Given the description of an element on the screen output the (x, y) to click on. 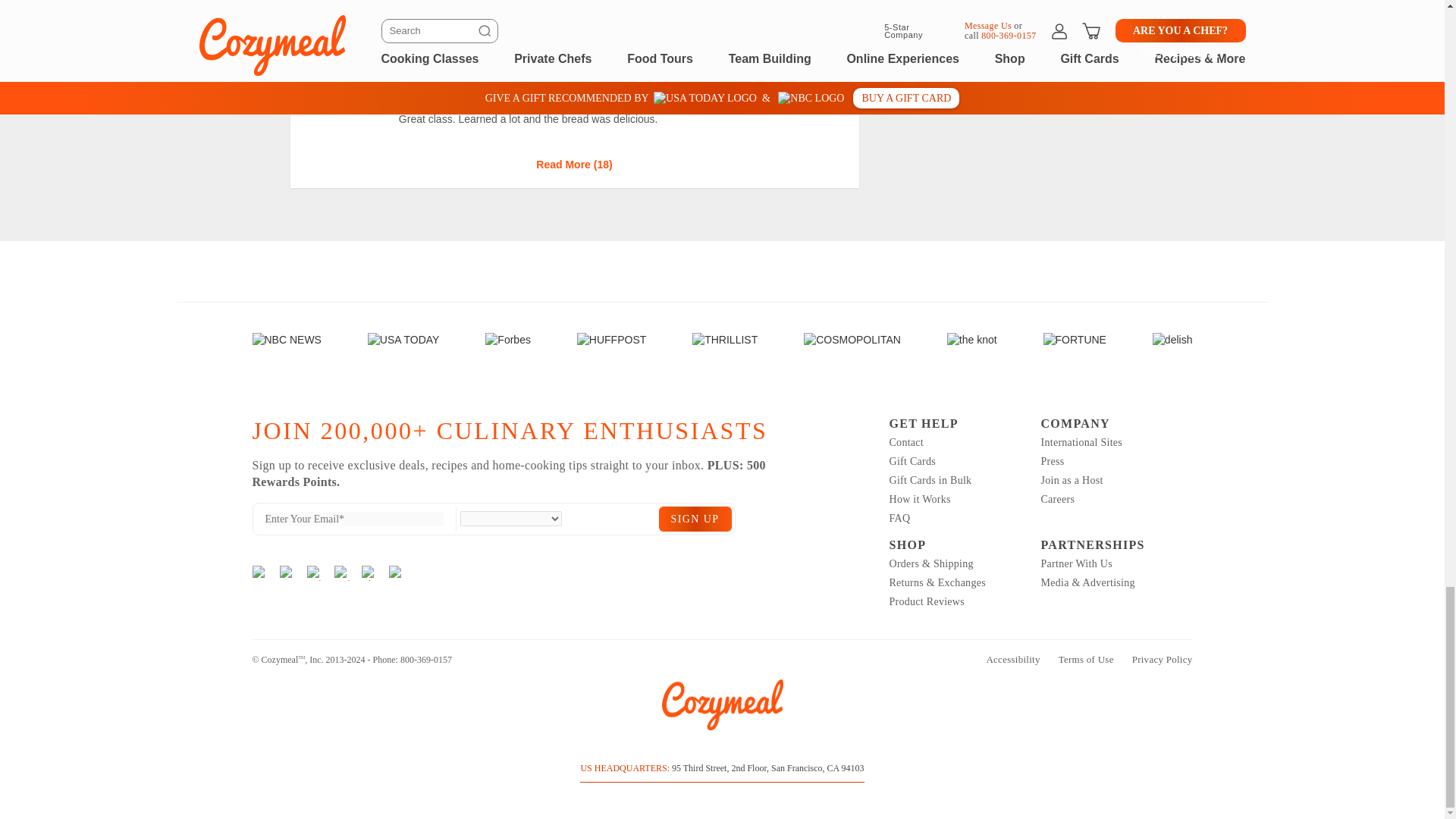
YouTube (395, 572)
Yelp (313, 572)
Twitter (341, 572)
Instagram (258, 572)
Pinterest (368, 572)
Facebook (286, 572)
